Given the description of an element on the screen output the (x, y) to click on. 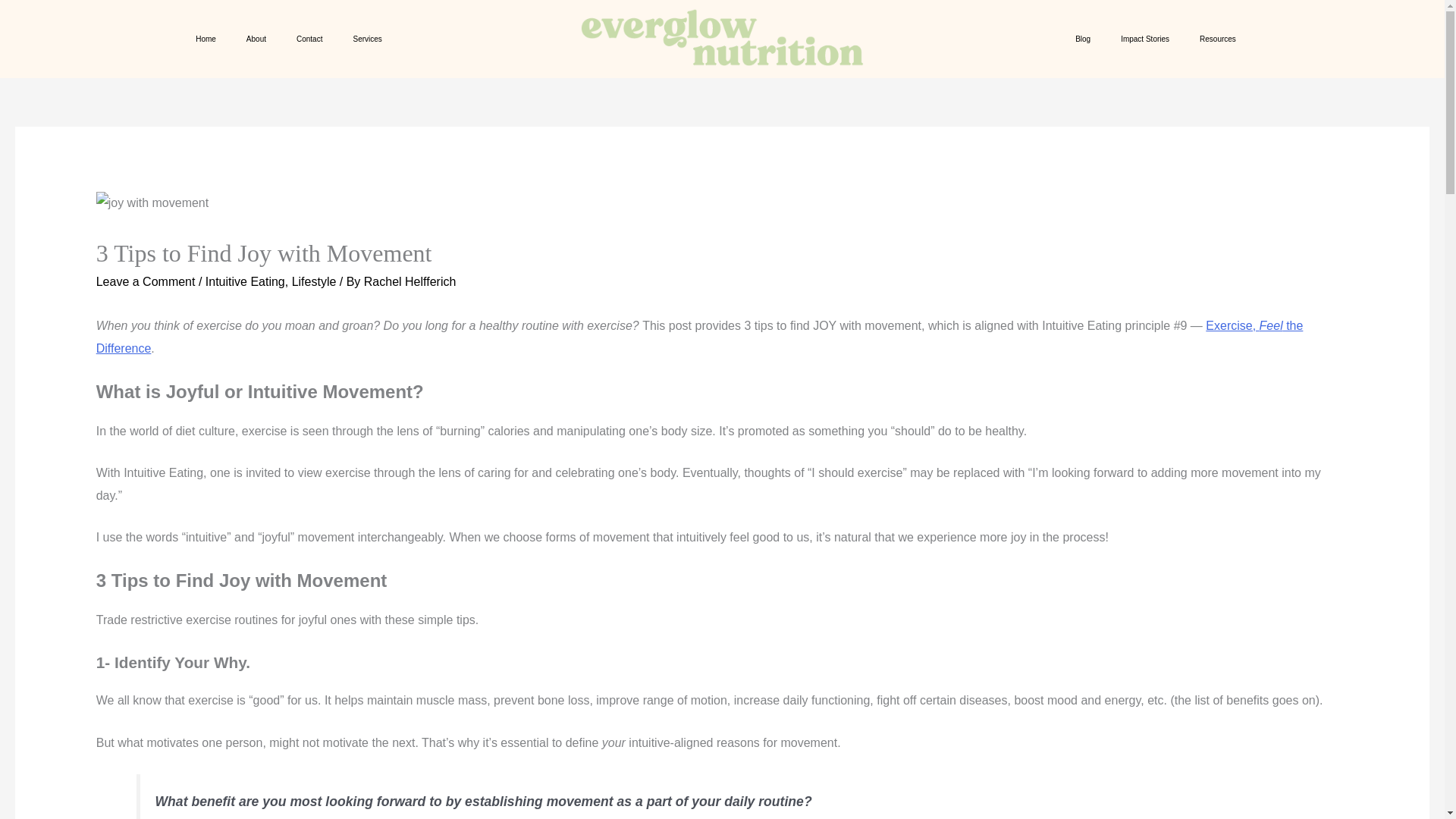
Services (366, 38)
Home (205, 38)
Resources (1217, 38)
Blog (1082, 38)
View all posts by Rachel Helfferich (410, 281)
Contact (309, 38)
Impact Stories (1145, 38)
About (256, 38)
